Given the description of an element on the screen output the (x, y) to click on. 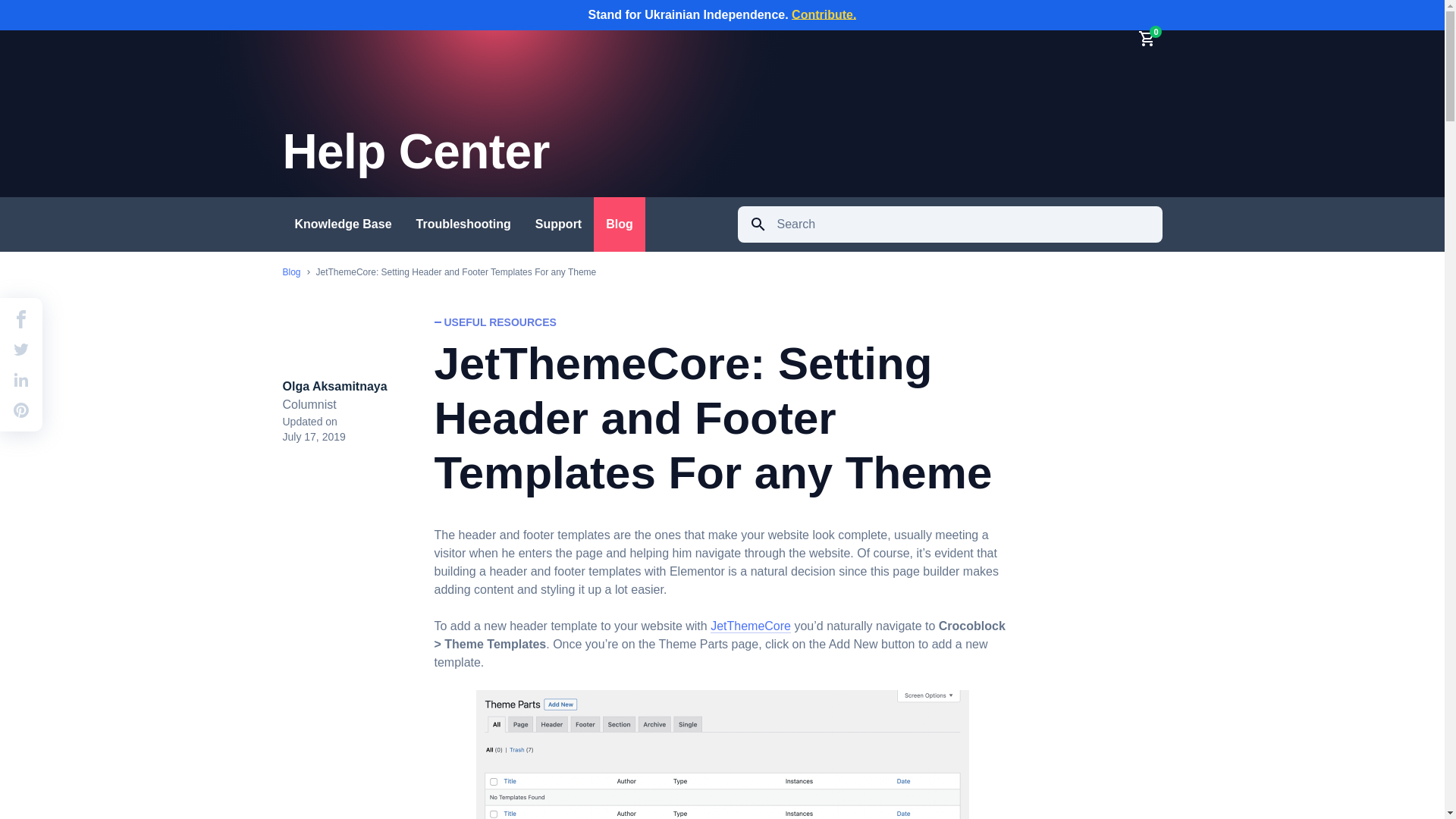
Knowledge Base (342, 224)
Share on Facebook (20, 319)
Blog (619, 224)
Share on Twitter (20, 349)
Share on Pinterest (20, 410)
Share on LinkedIn (20, 380)
Blog (290, 272)
USEFUL RESOURCES (494, 322)
JetThemeCore (750, 625)
0 (1149, 39)
